Given the description of an element on the screen output the (x, y) to click on. 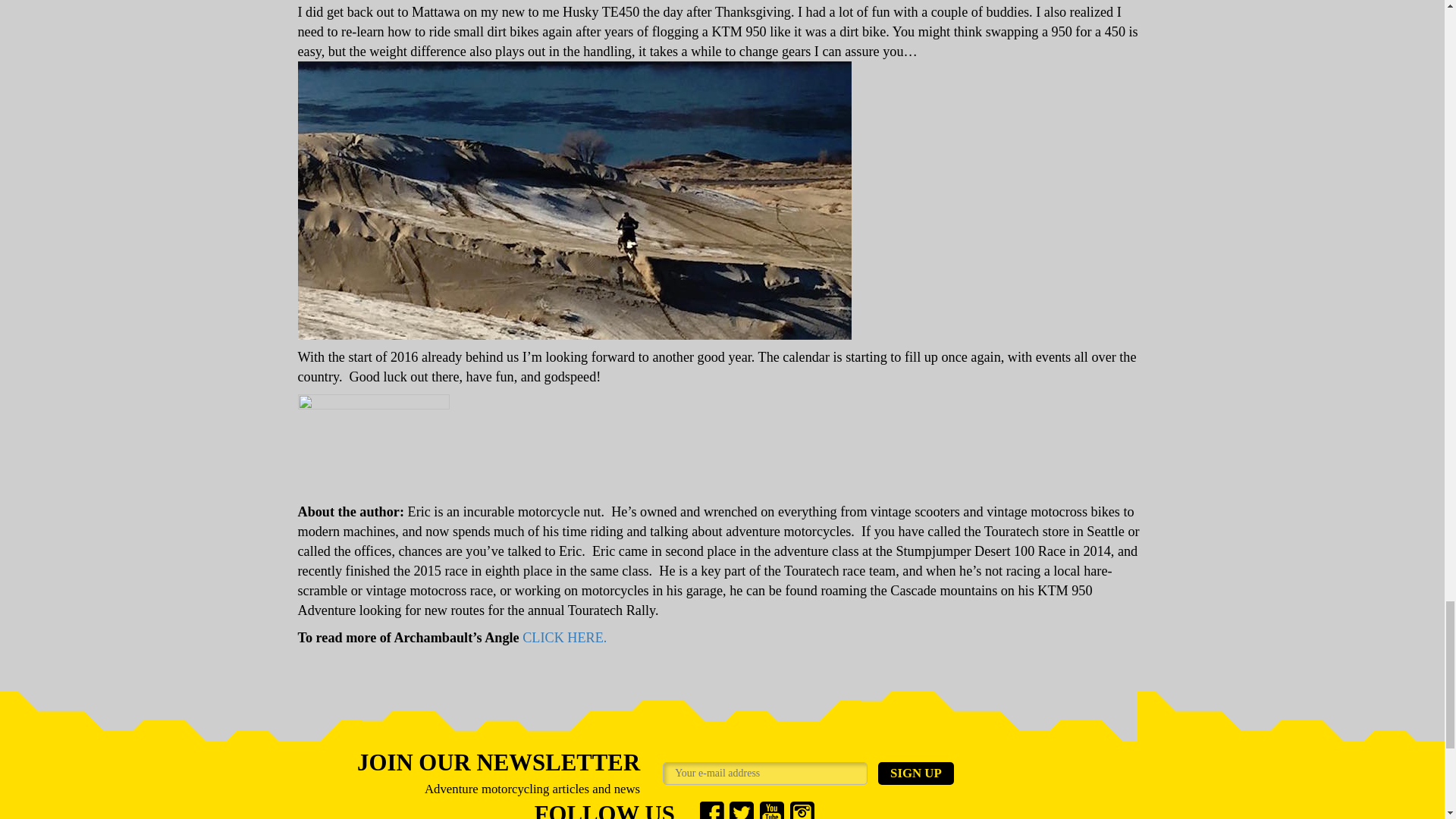
Sign up (915, 773)
 CLICK HERE.  (564, 637)
Sign up (915, 773)
